Given the description of an element on the screen output the (x, y) to click on. 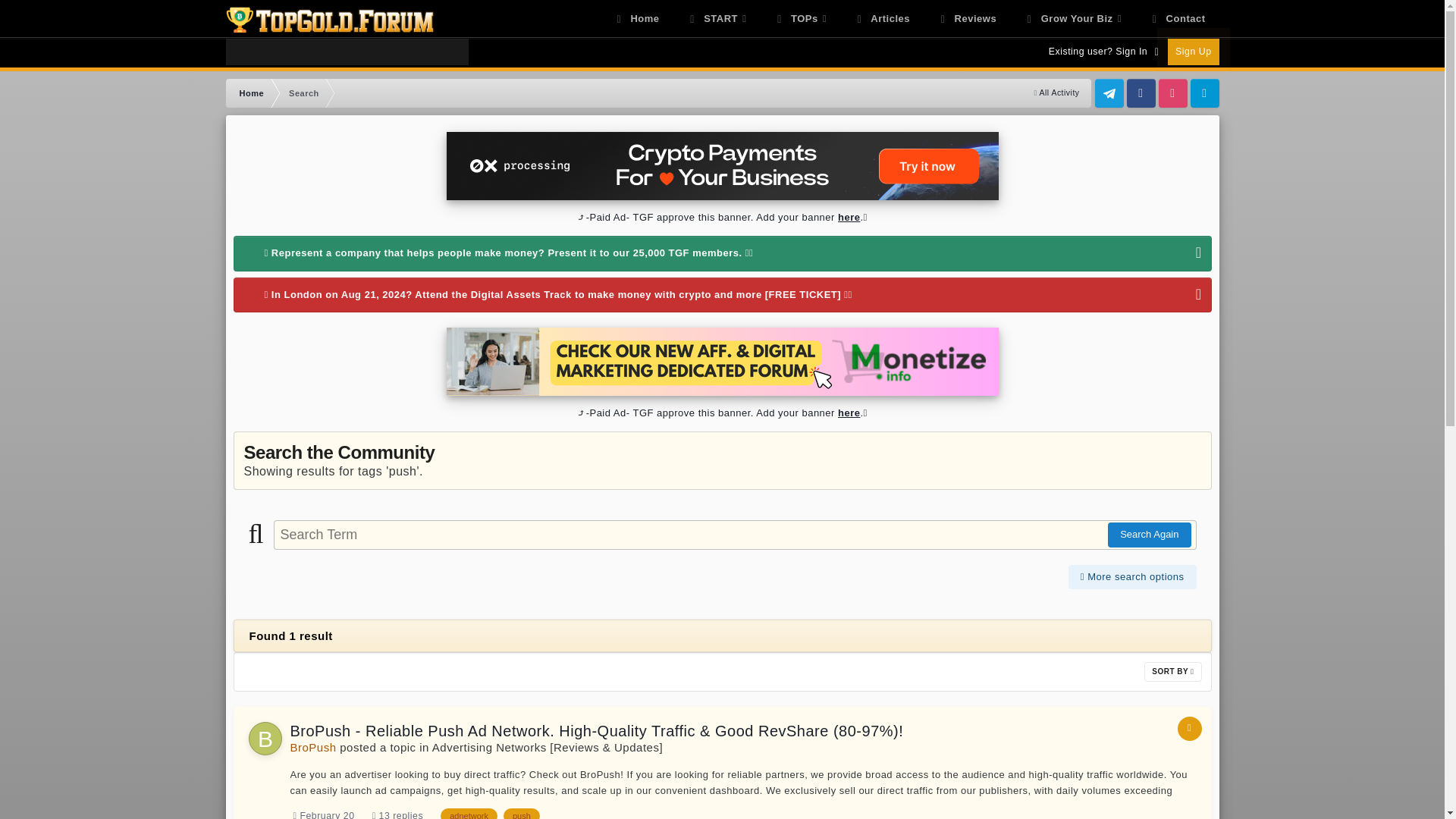
Find other content tagged with 'adnetwork' (469, 813)
Topic (1188, 728)
Home (635, 18)
Grow Your Biz (1072, 18)
Home (250, 92)
Go to BroPush's profile (265, 738)
Go to BroPush's profile (312, 747)
START (716, 18)
Advertise on Top Gold Forum (721, 216)
TOPs (800, 18)
